Given the description of an element on the screen output the (x, y) to click on. 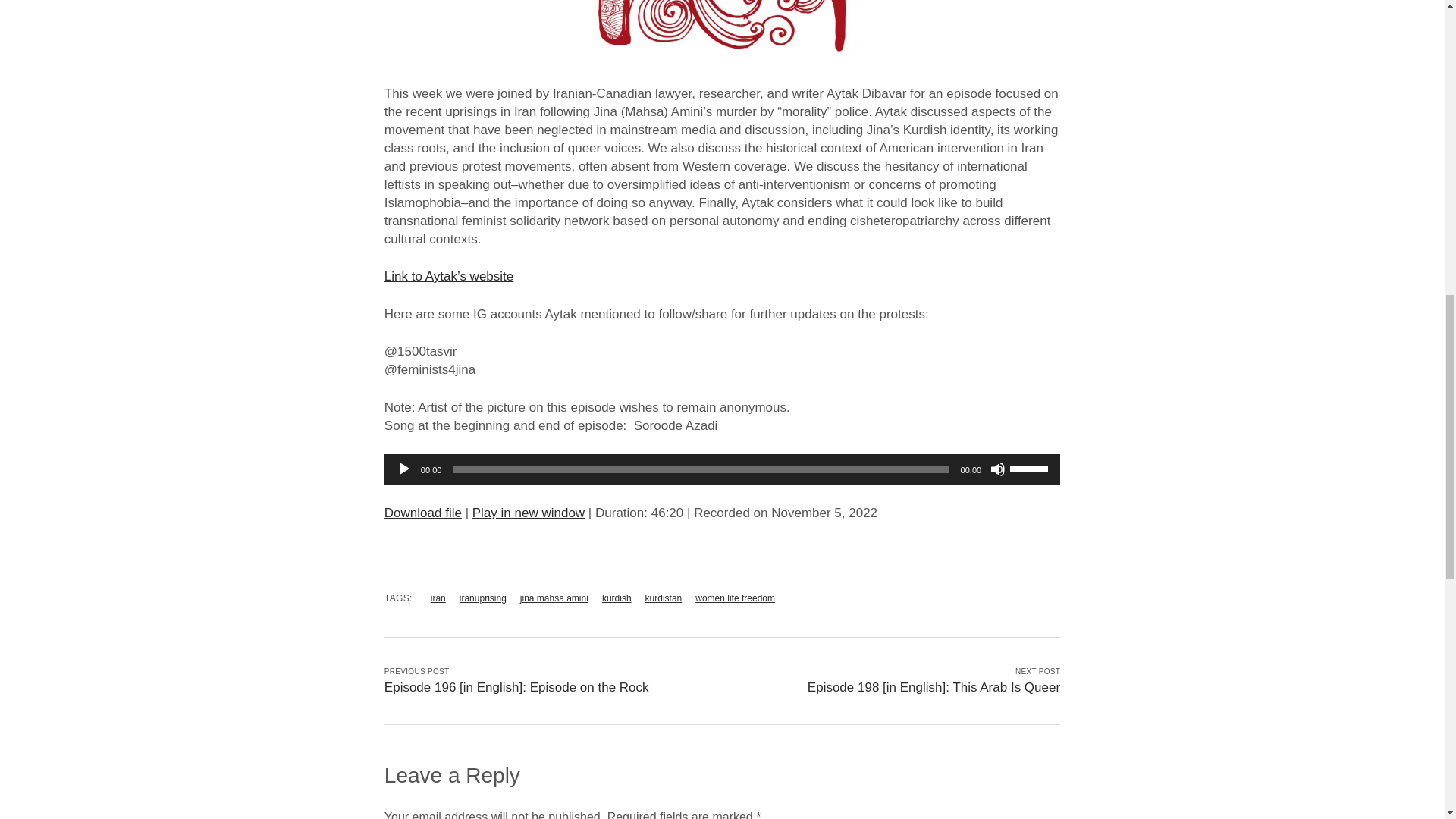
Play in new window (528, 513)
jina mahsa amini (553, 597)
View all posts tagged jina mahsa amini (553, 597)
kurdish (616, 597)
Play (404, 468)
kurdistan (663, 597)
View all posts tagged women life freedom (734, 597)
View all posts tagged iranuprising (483, 597)
women life freedom (734, 597)
iran (437, 597)
Mute (998, 468)
View all posts tagged kurdish (616, 597)
View all posts tagged iran (437, 597)
iranuprising (483, 597)
Download file (422, 513)
